Given the description of an element on the screen output the (x, y) to click on. 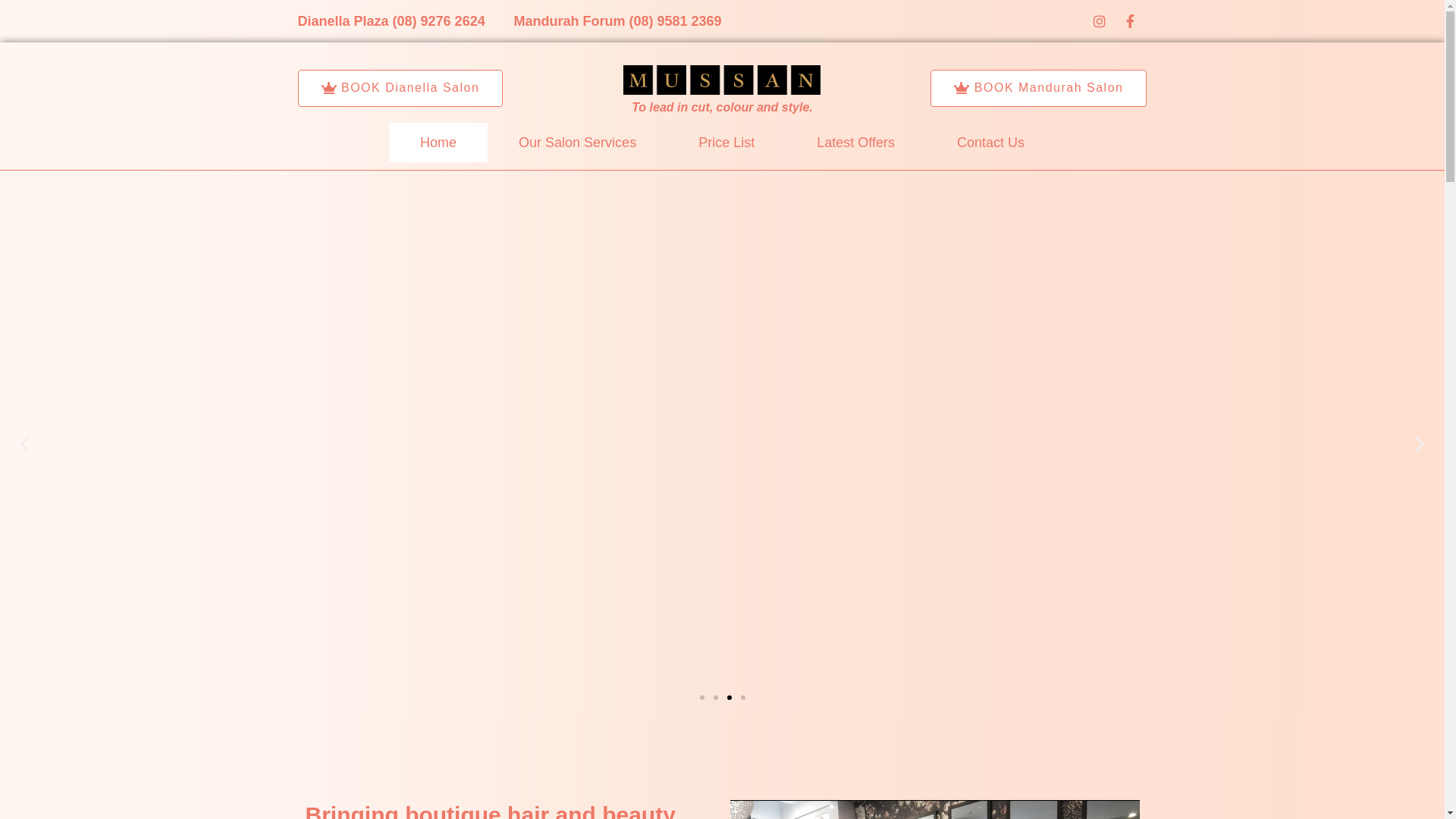
Contact Us Element type: text (990, 142)
Latest Offers Element type: text (855, 142)
Mandurah Forum (08) 9581 2369 Element type: text (617, 20)
Price List Element type: text (726, 142)
Home Element type: text (438, 142)
Our Salon Services Element type: text (577, 142)
BOOK Dianella Salon Element type: text (399, 87)
BOOK Mandurah Salon Element type: text (1038, 87)
Dianella Plaza (08) 9276 2624 Element type: text (390, 20)
